Given the description of an element on the screen output the (x, y) to click on. 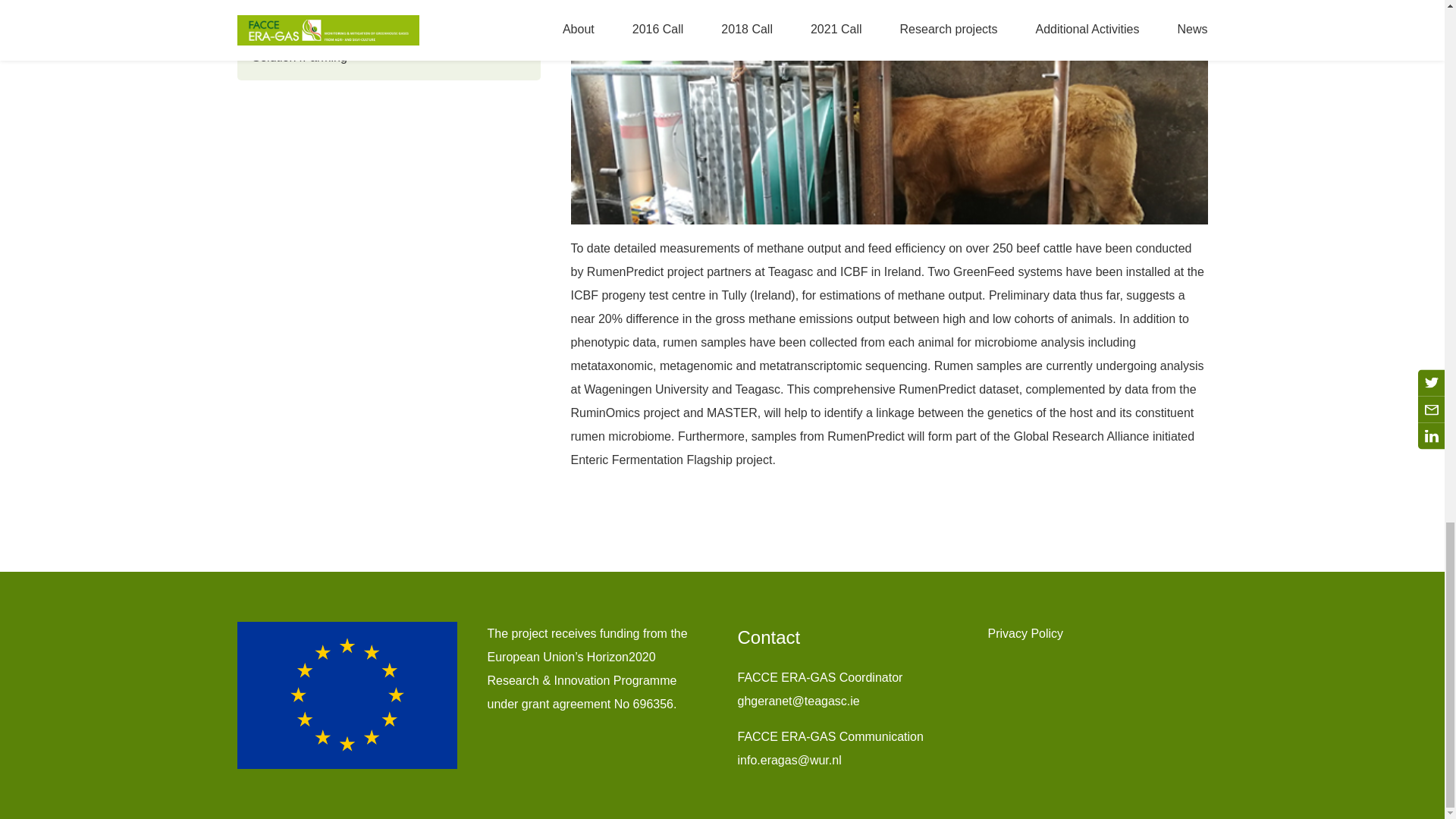
SENSE (387, 12)
Solution4Farming (387, 57)
